Given the description of an element on the screen output the (x, y) to click on. 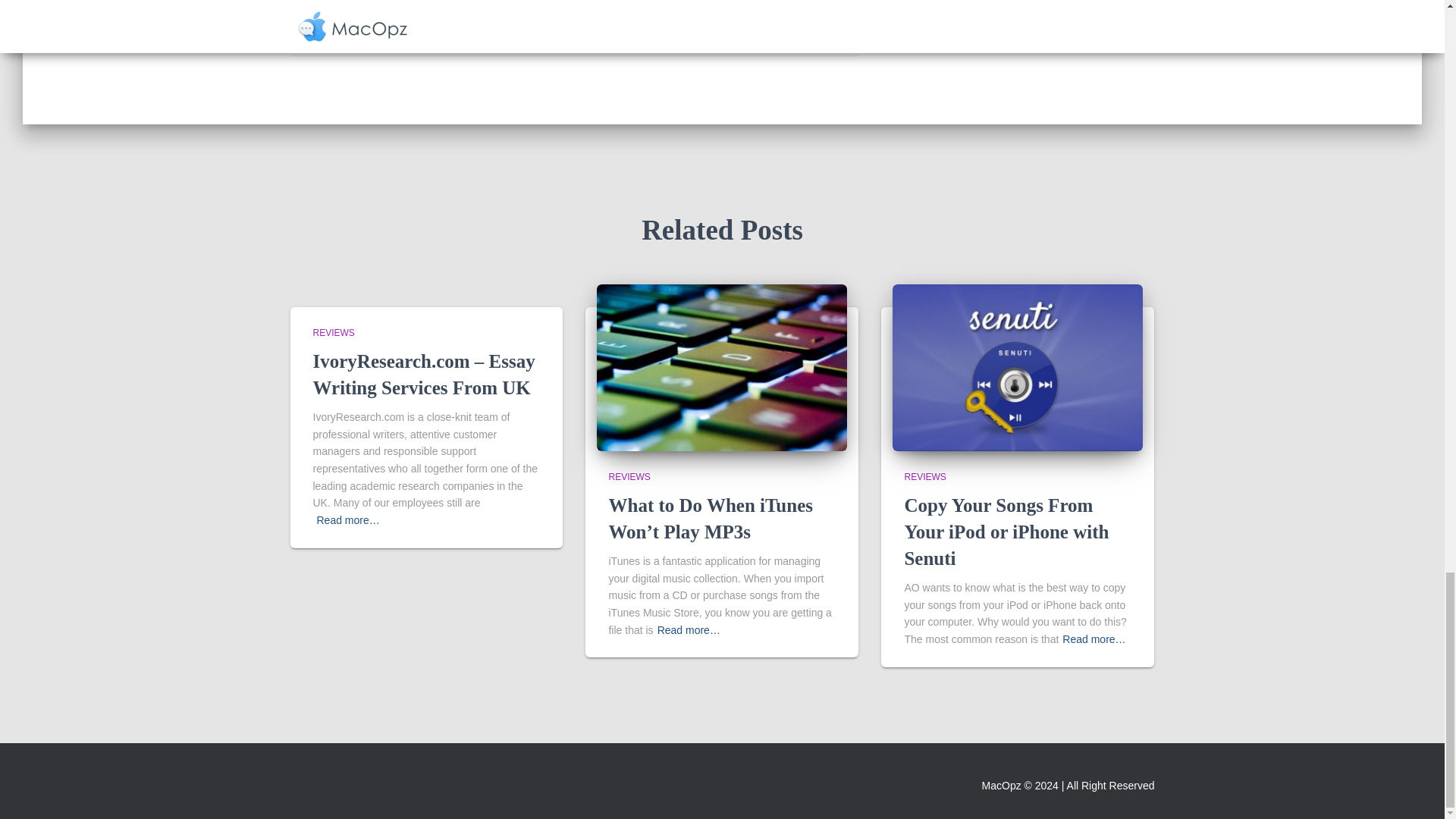
REVIEWS (378, 27)
Copy Your Songs From Your iPod or iPhone with Senuti (1006, 531)
View all posts in Reviews (924, 476)
Copy Your Songs From Your iPod or iPhone with Senuti (1006, 531)
Copy Your Songs From Your iPod or iPhone with Senuti (1017, 366)
REVIEWS (333, 332)
View all posts in Reviews (333, 332)
View all posts in Reviews (628, 476)
REVIEWS (924, 476)
REVIEWS (628, 476)
